Given the description of an element on the screen output the (x, y) to click on. 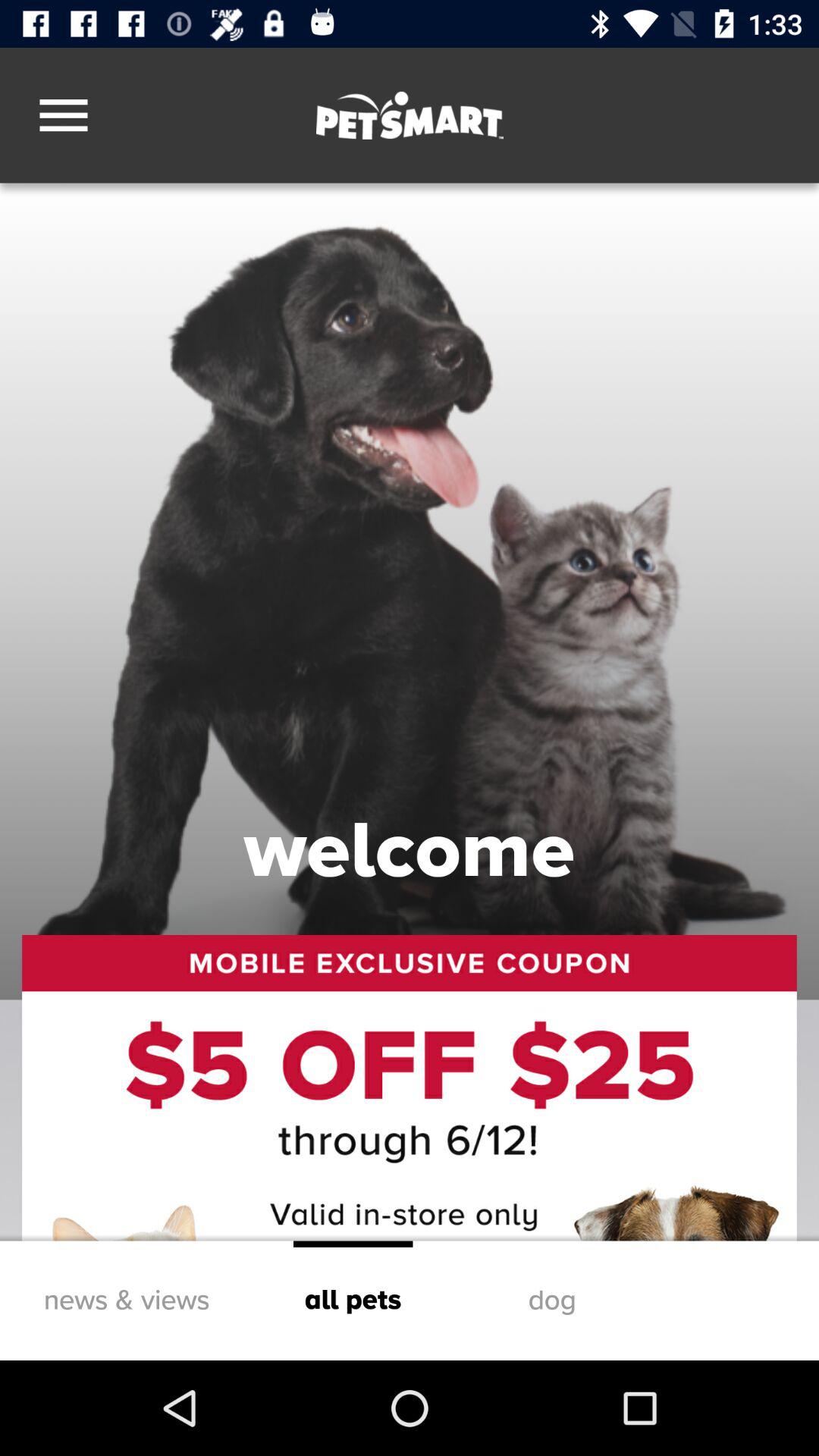
launch icon to the right of news & views (352, 1300)
